Given the description of an element on the screen output the (x, y) to click on. 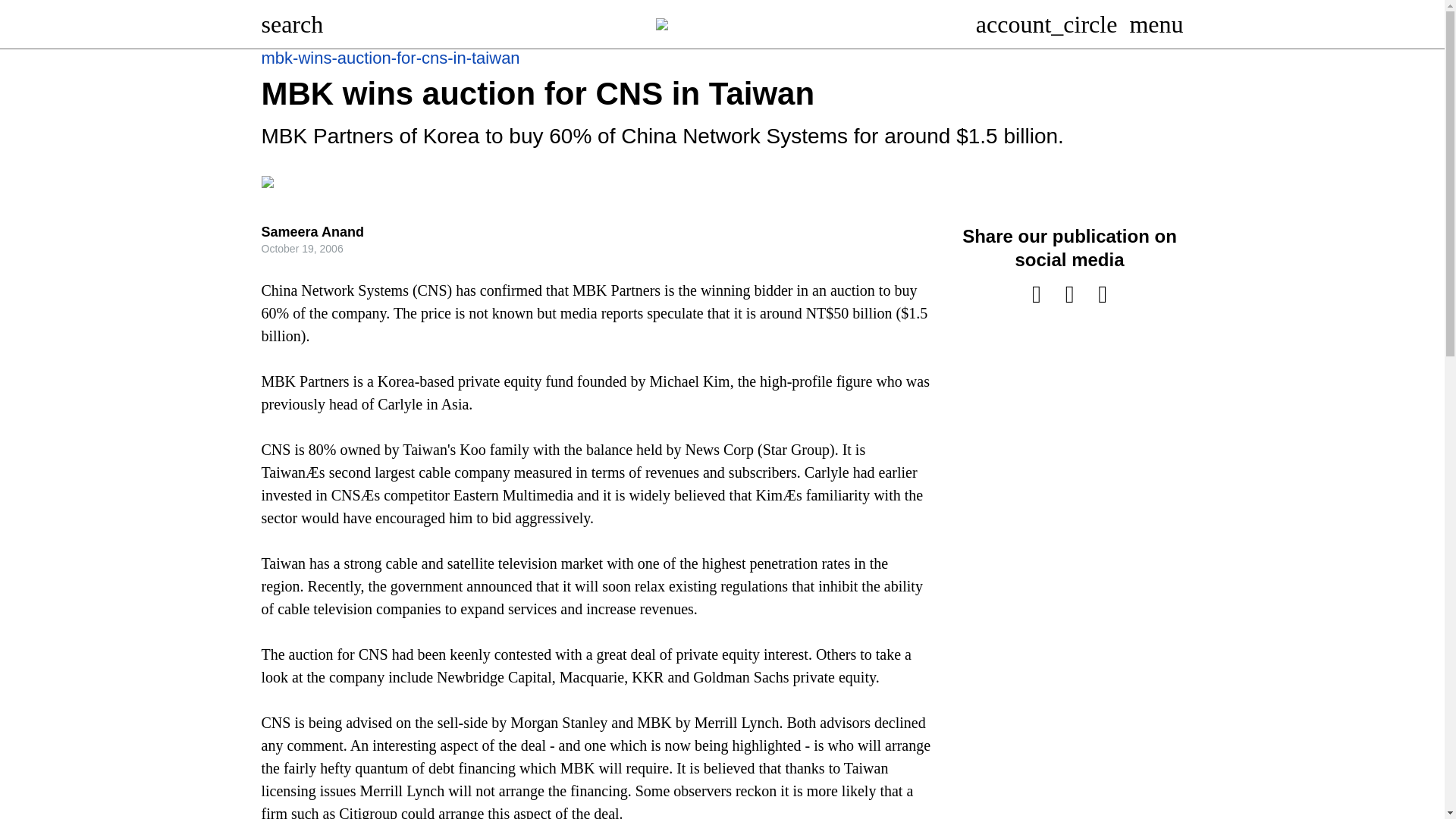
Menu (1155, 24)
Search (291, 24)
Sameera Anand (311, 231)
Sign In (1046, 24)
